Given the description of an element on the screen output the (x, y) to click on. 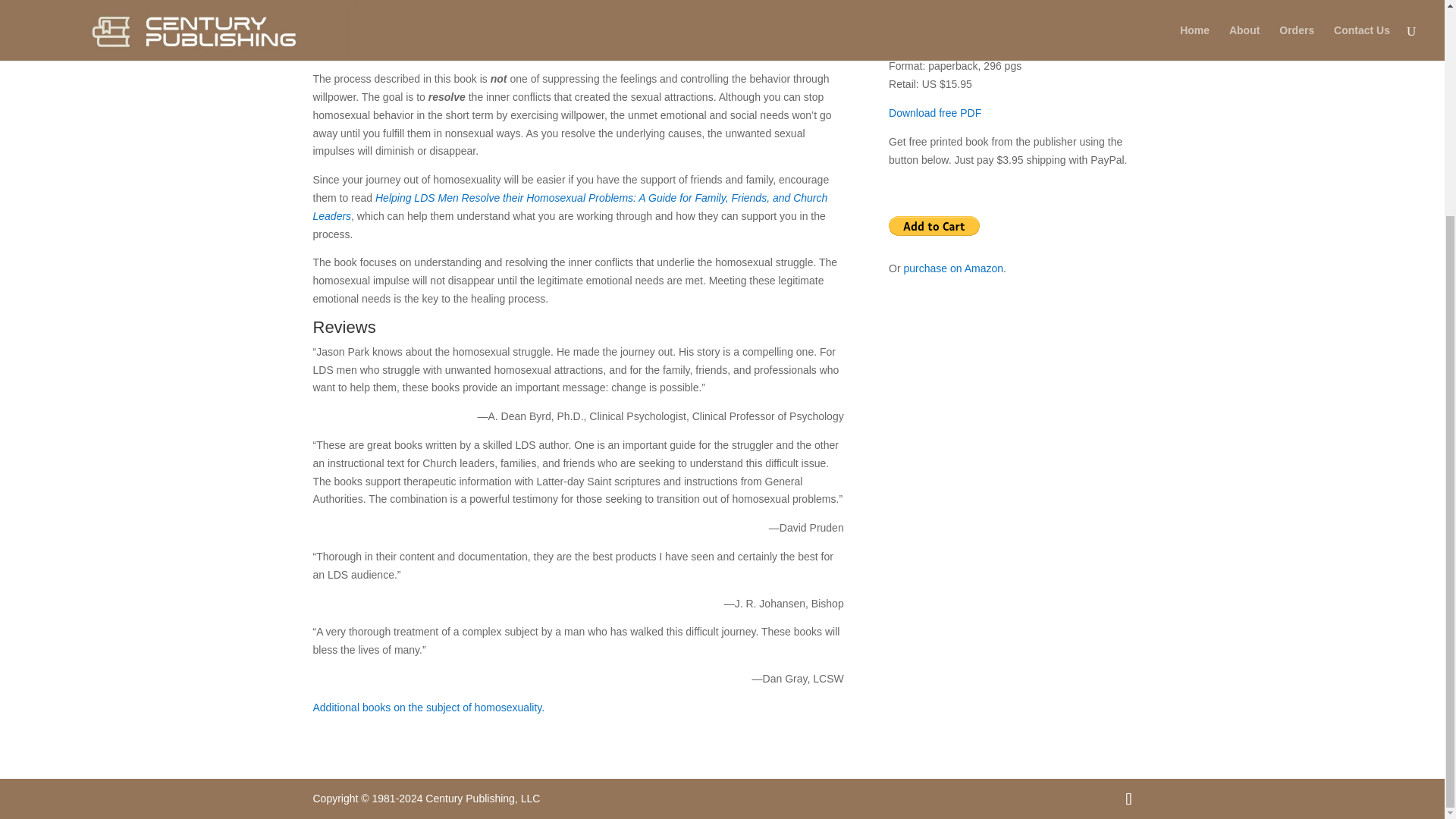
purchase on Amazon (954, 268)
available in Spanish (1057, 48)
Additional books on the subject of homosexuality. (428, 707)
Download free PDF (934, 112)
